Given the description of an element on the screen output the (x, y) to click on. 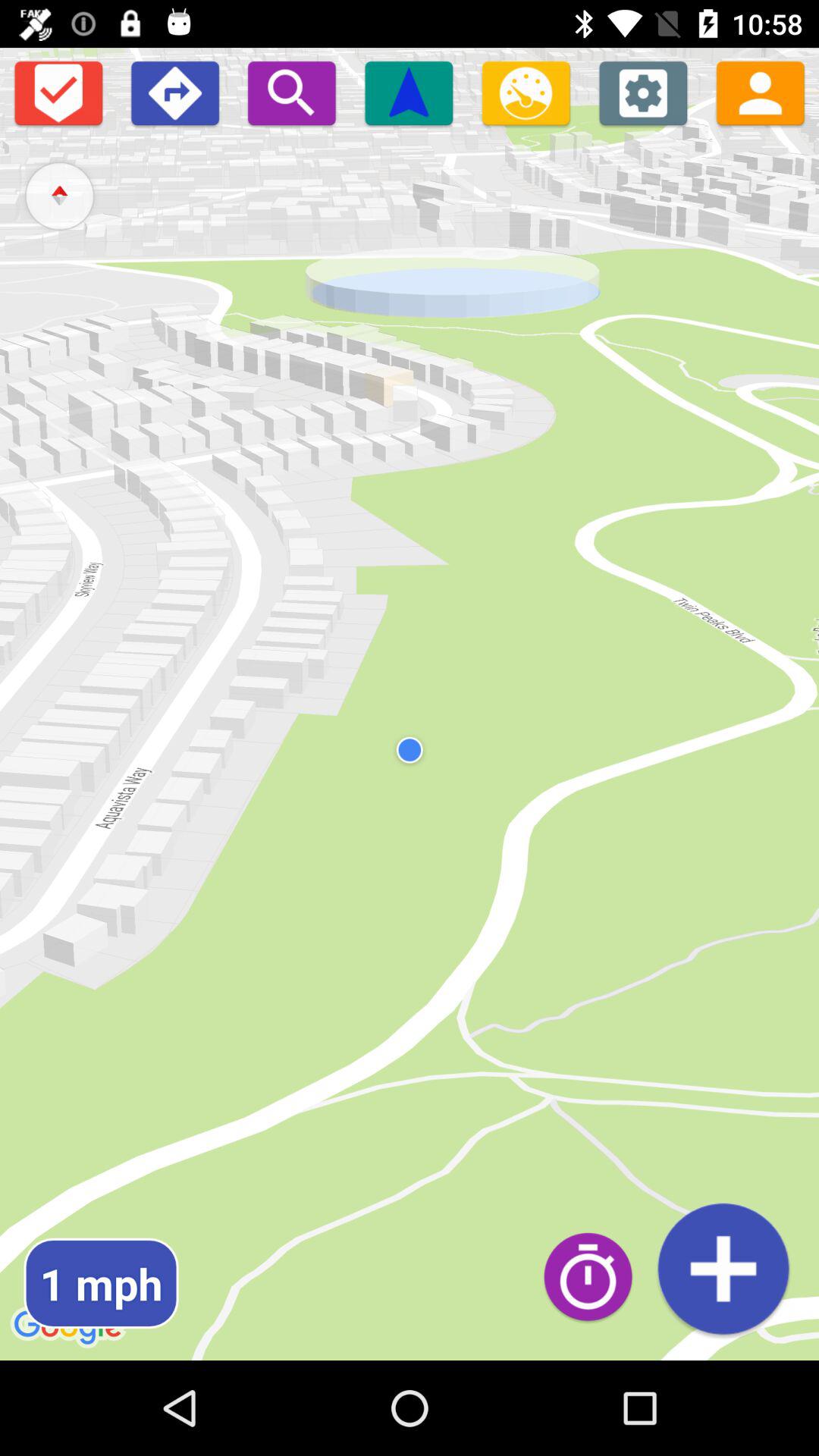
see tools and options (642, 92)
